Given the description of an element on the screen output the (x, y) to click on. 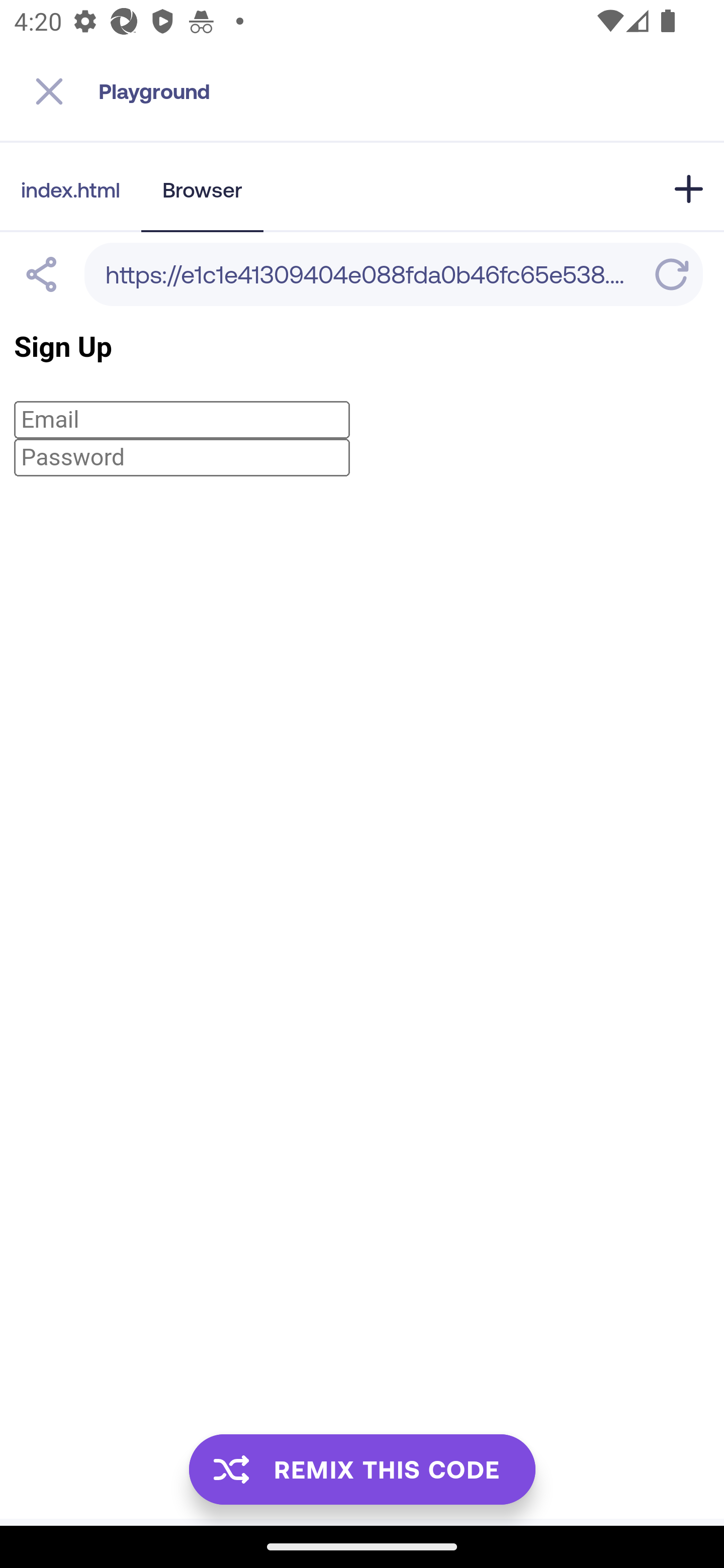
Navigate up (49, 91)
Playground (411, 91)
index.html (70, 189)
REMIX THIS CODE (361, 1469)
